Given the description of an element on the screen output the (x, y) to click on. 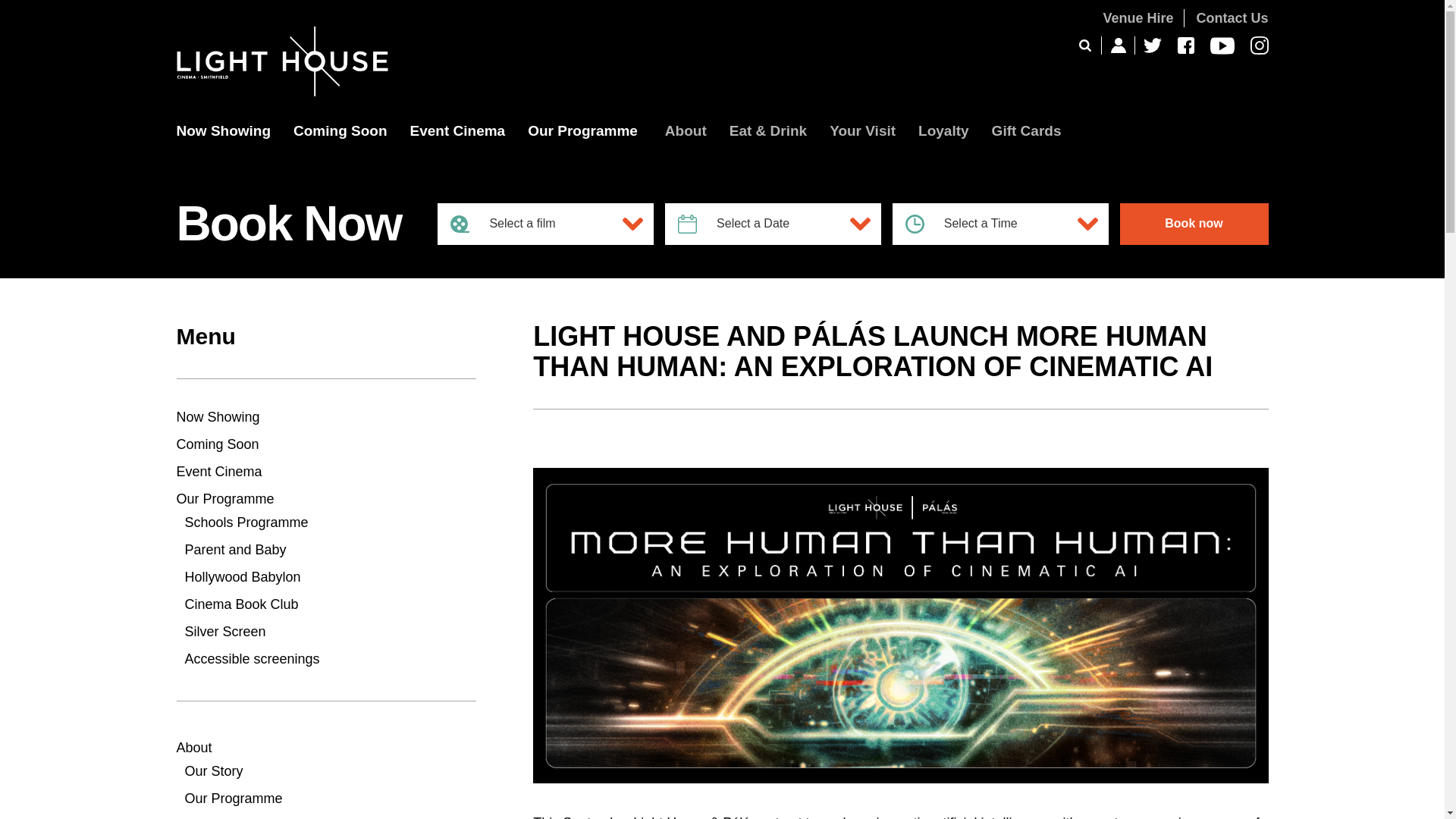
Coming Soon (340, 148)
Loyalty (943, 148)
Your Visit (862, 148)
Venue Hire (1137, 17)
Our Programme (582, 148)
Now Showing (223, 148)
Event Cinema (457, 148)
Gift Cards (1026, 148)
Contact Us (1231, 17)
